Given the description of an element on the screen output the (x, y) to click on. 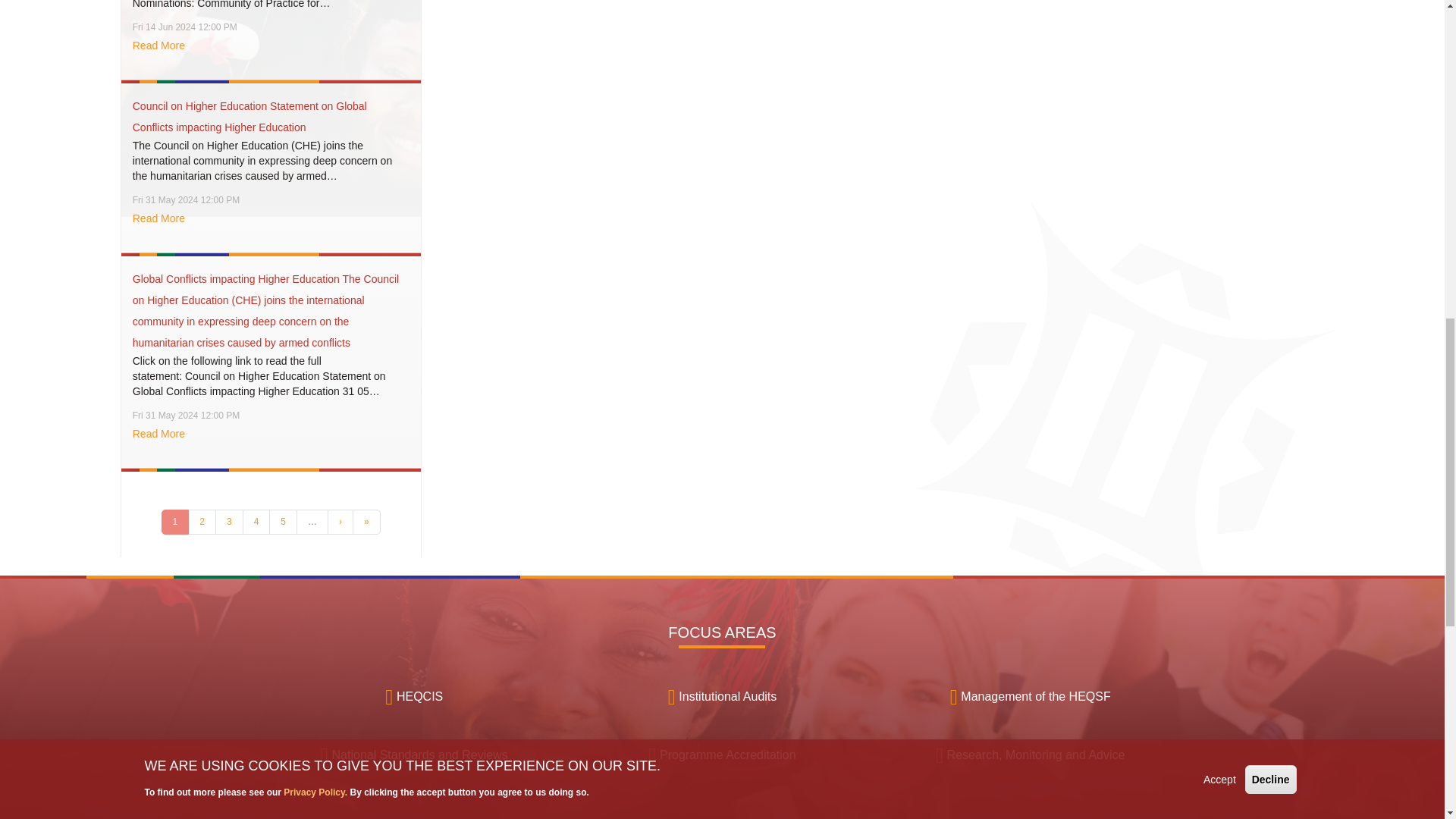
Go to next page (340, 521)
Go to last page (366, 521)
